Given the description of an element on the screen output the (x, y) to click on. 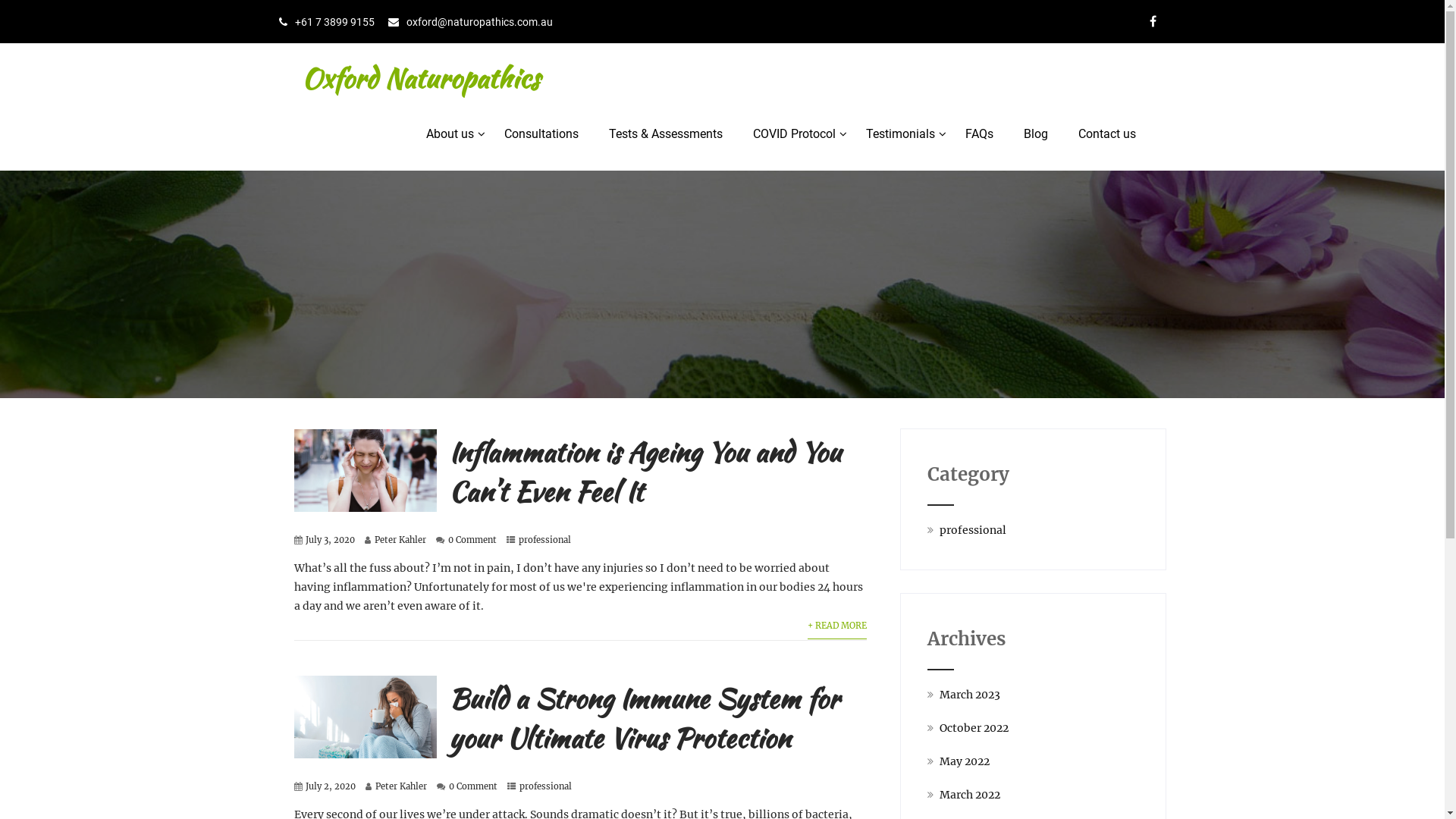
July 3, 2020 Element type: text (329, 539)
Consultations Element type: text (540, 133)
0 Comment Element type: text (472, 786)
Contact us Element type: text (1107, 133)
facebook Element type: hover (1152, 21)
Peter Kahler Element type: text (400, 786)
+ READ MORE Element type: text (836, 625)
March 2023 Element type: text (969, 694)
Blog Element type: text (1035, 133)
July 2, 2020 Element type: text (329, 786)
March 2022 Element type: text (969, 794)
professional Element type: text (544, 786)
professional Element type: text (972, 529)
professional Element type: text (544, 539)
0 Comment Element type: text (471, 539)
Peter Kahler Element type: text (400, 539)
About us Element type: text (450, 133)
October 2022 Element type: text (973, 727)
Testimonials Element type: text (900, 133)
FAQs Element type: text (978, 133)
COVID Protocol Element type: text (793, 133)
Oxford Naturopathics Element type: text (420, 77)
Tests & Assessments Element type: text (665, 133)
May 2022 Element type: text (964, 761)
